Given the description of an element on the screen output the (x, y) to click on. 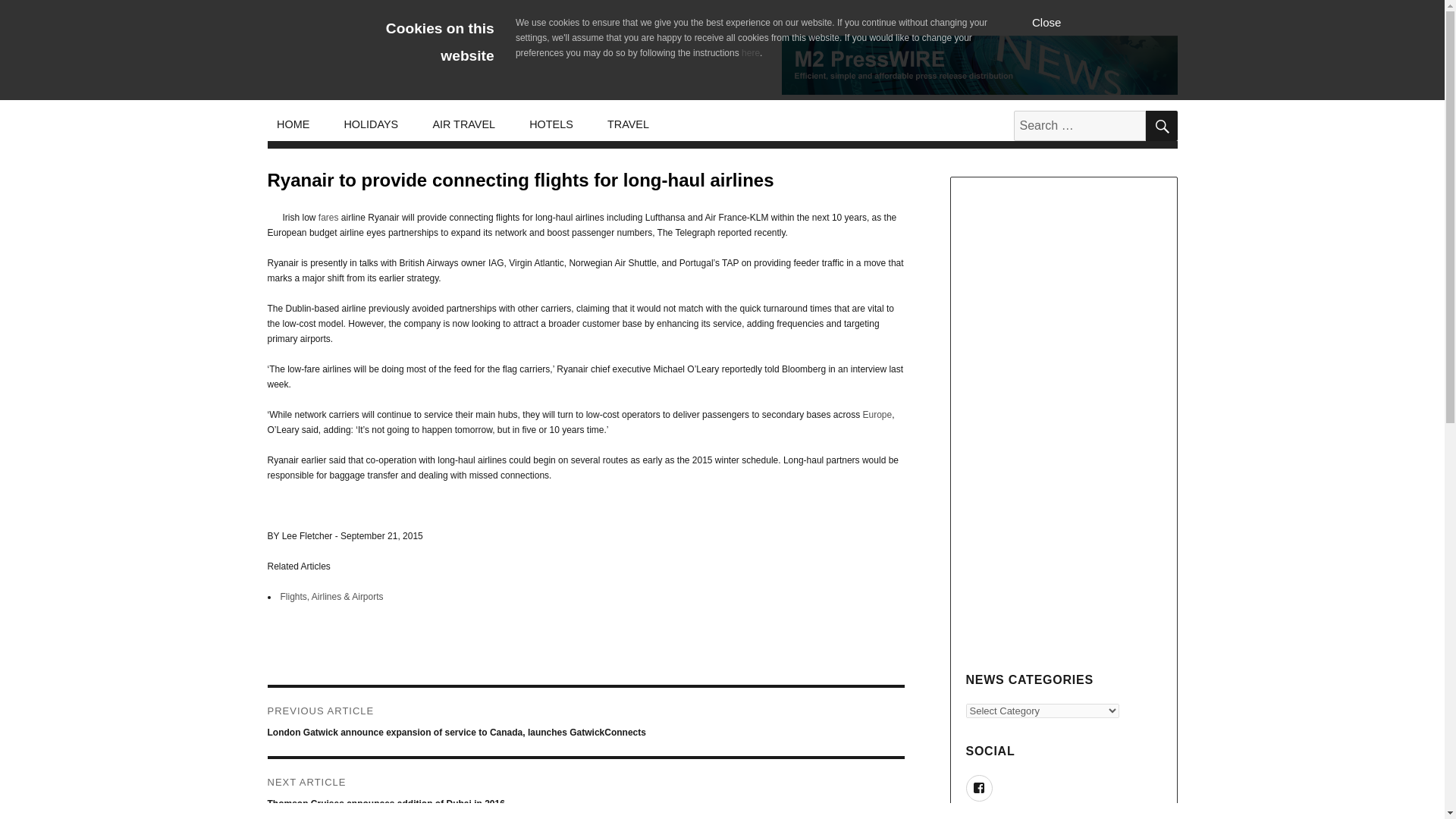
Europe (877, 414)
HOLIDAYS (370, 124)
TRAVEL (627, 124)
FACEBOOK (979, 787)
AIR TRAVEL (464, 124)
HOME (292, 124)
HOTELS (551, 124)
SEARCH (1160, 125)
Close (1046, 21)
